Given the description of an element on the screen output the (x, y) to click on. 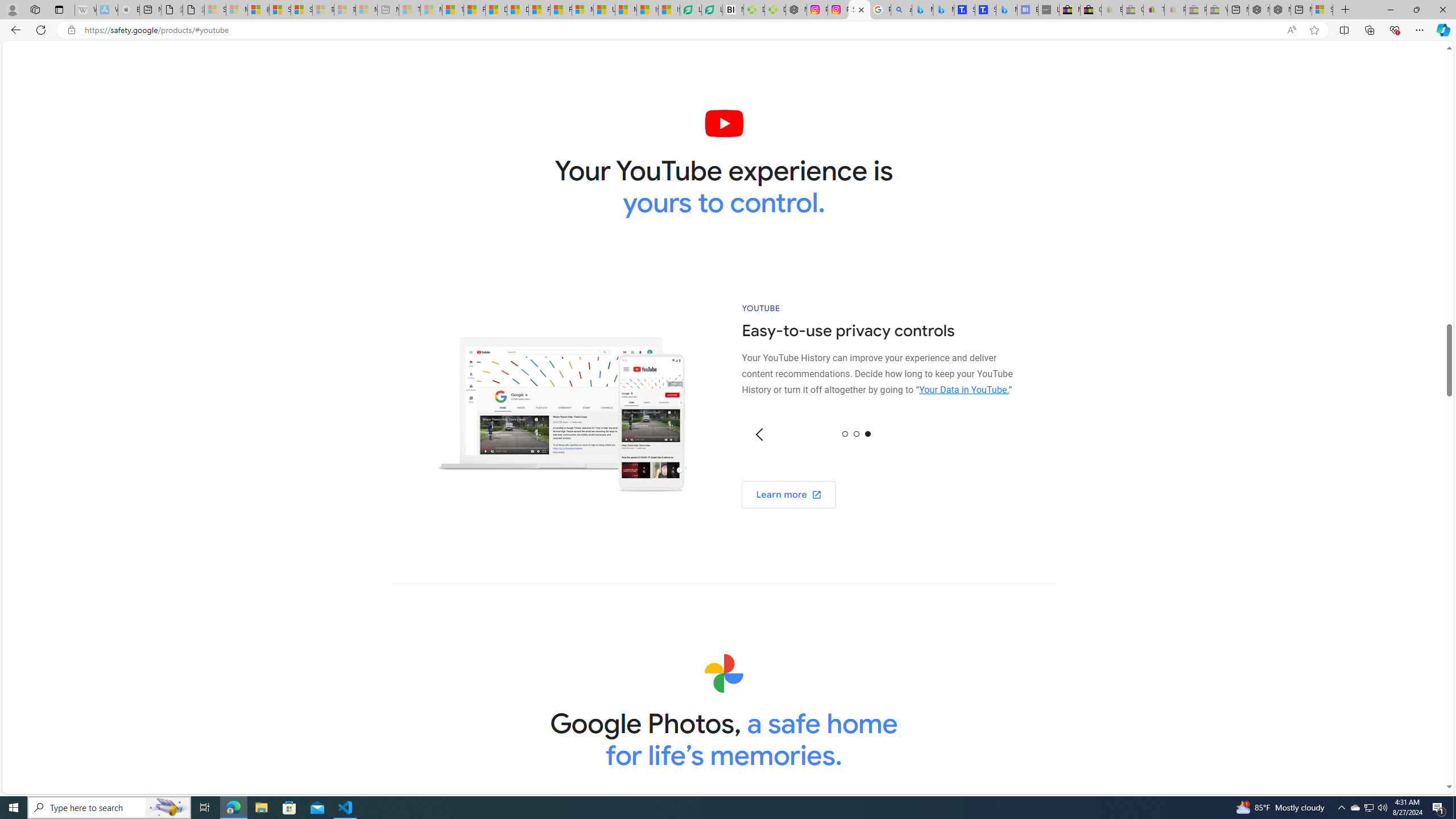
Yard, Garden & Outdoor Living - Sleeping (1216, 9)
Food and Drink - MSN (474, 9)
Microsoft account | Account Checkup - Sleeping (365, 9)
Nordace - Nordace Edin Collection (795, 9)
New tab - Sleeping (387, 9)
LendingTree - Compare Lenders (712, 9)
Shangri-La Bangkok, Hotel reviews and Room rates (985, 9)
Microsoft Bing Travel - Flights from Hong Kong to Bangkok (922, 9)
alabama high school quarterback dies - Search (901, 9)
Learn more about YouTube (789, 494)
Payments Terms of Use | eBay.com - Sleeping (1174, 9)
